Given the description of an element on the screen output the (x, y) to click on. 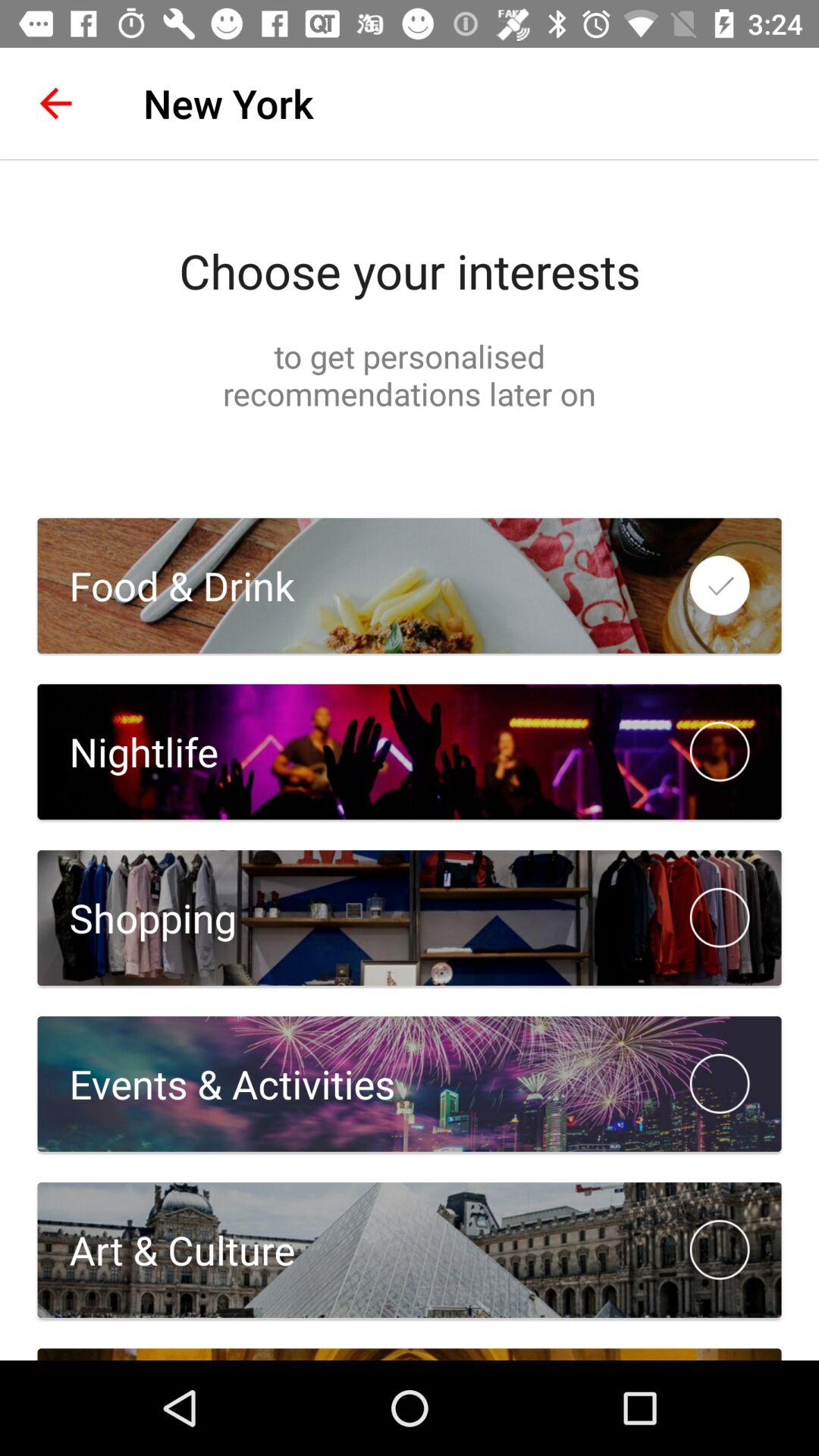
select the last image in the page (409, 1249)
click on the first image from the top of the page (409, 586)
click on the second radio button from the top of the page (720, 751)
